Given the description of an element on the screen output the (x, y) to click on. 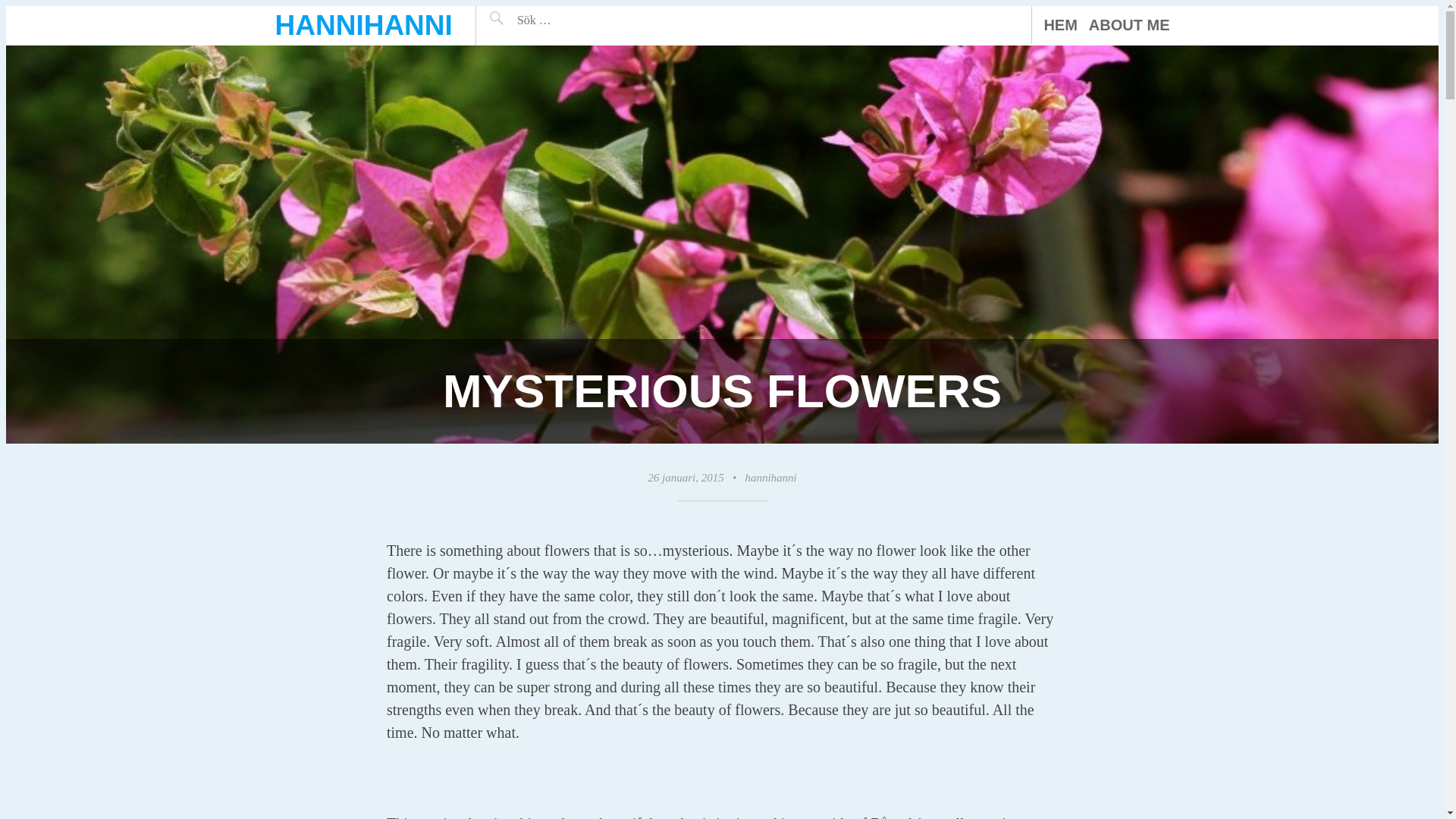
HANNIHANNI (363, 24)
26 januari, 2015 (685, 477)
HEM (1060, 24)
hannihanni (770, 477)
ABOUT ME (1129, 24)
